Given the description of an element on the screen output the (x, y) to click on. 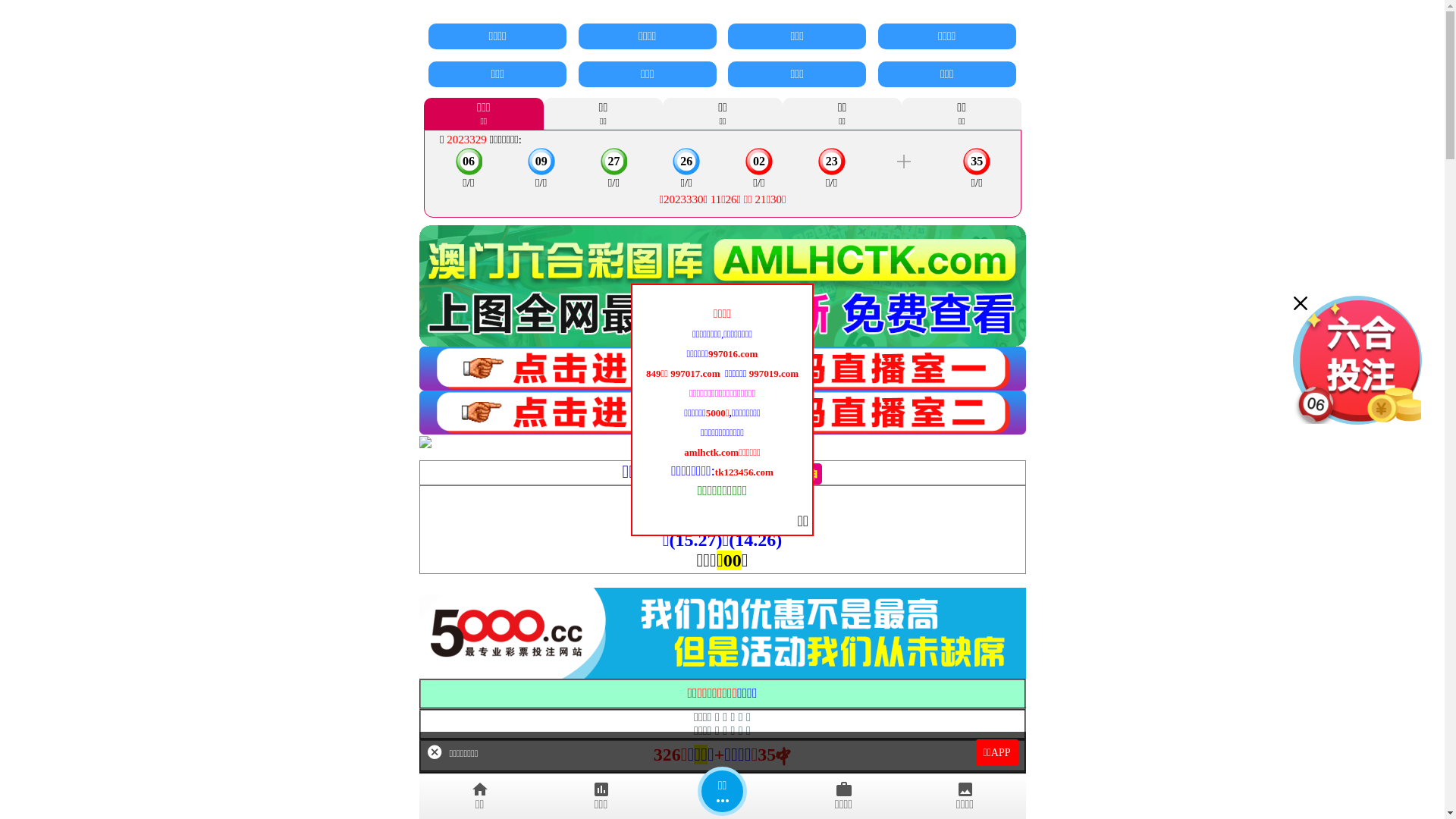
997019.com Element type: text (773, 372)
997017.com  Element type: text (697, 372)
